Given the description of an element on the screen output the (x, y) to click on. 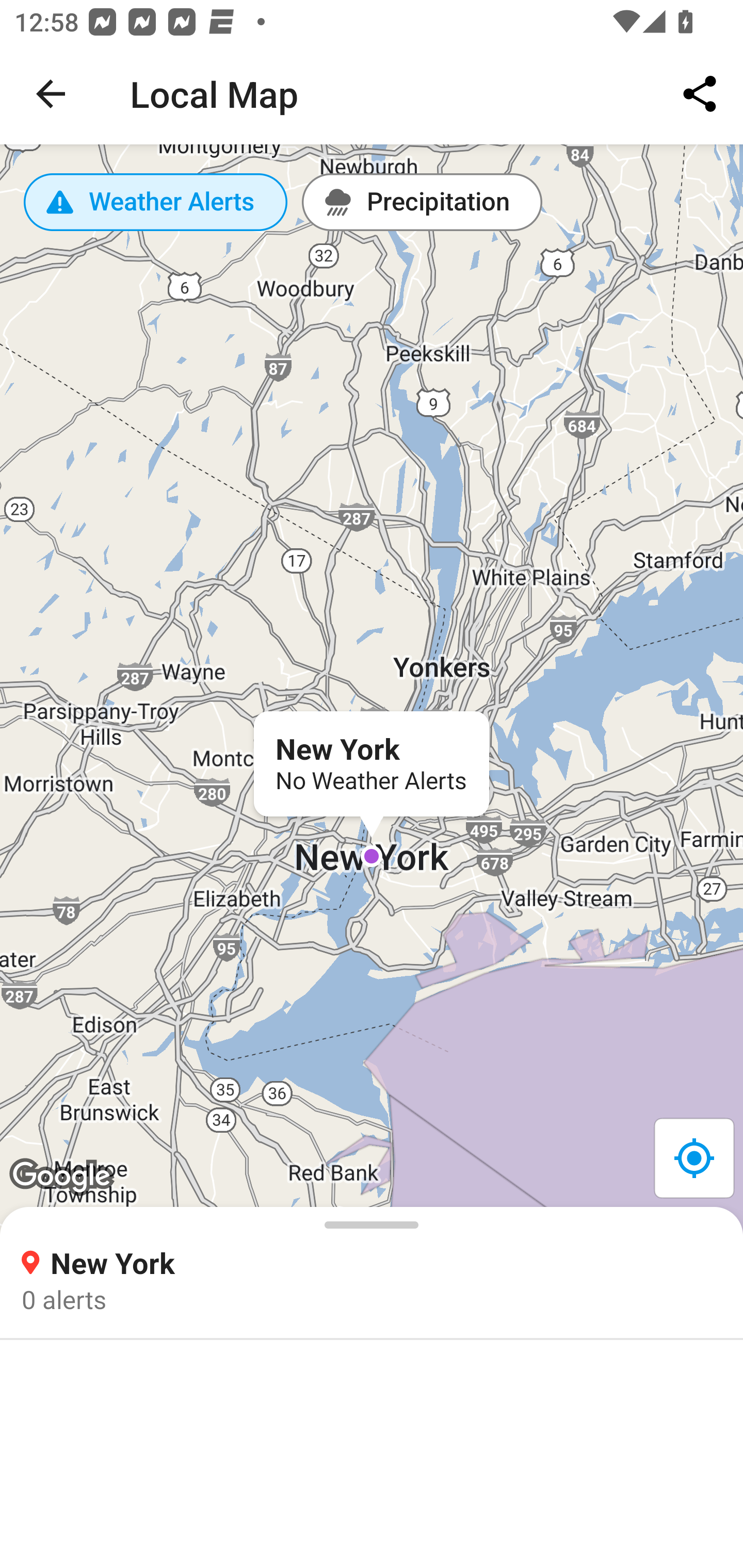
Navigate up (50, 93)
Share (699, 93)
Weather Alerts (155, 202)
Precipitation (421, 202)
My location button (693, 1157)
